Given the description of an element on the screen output the (x, y) to click on. 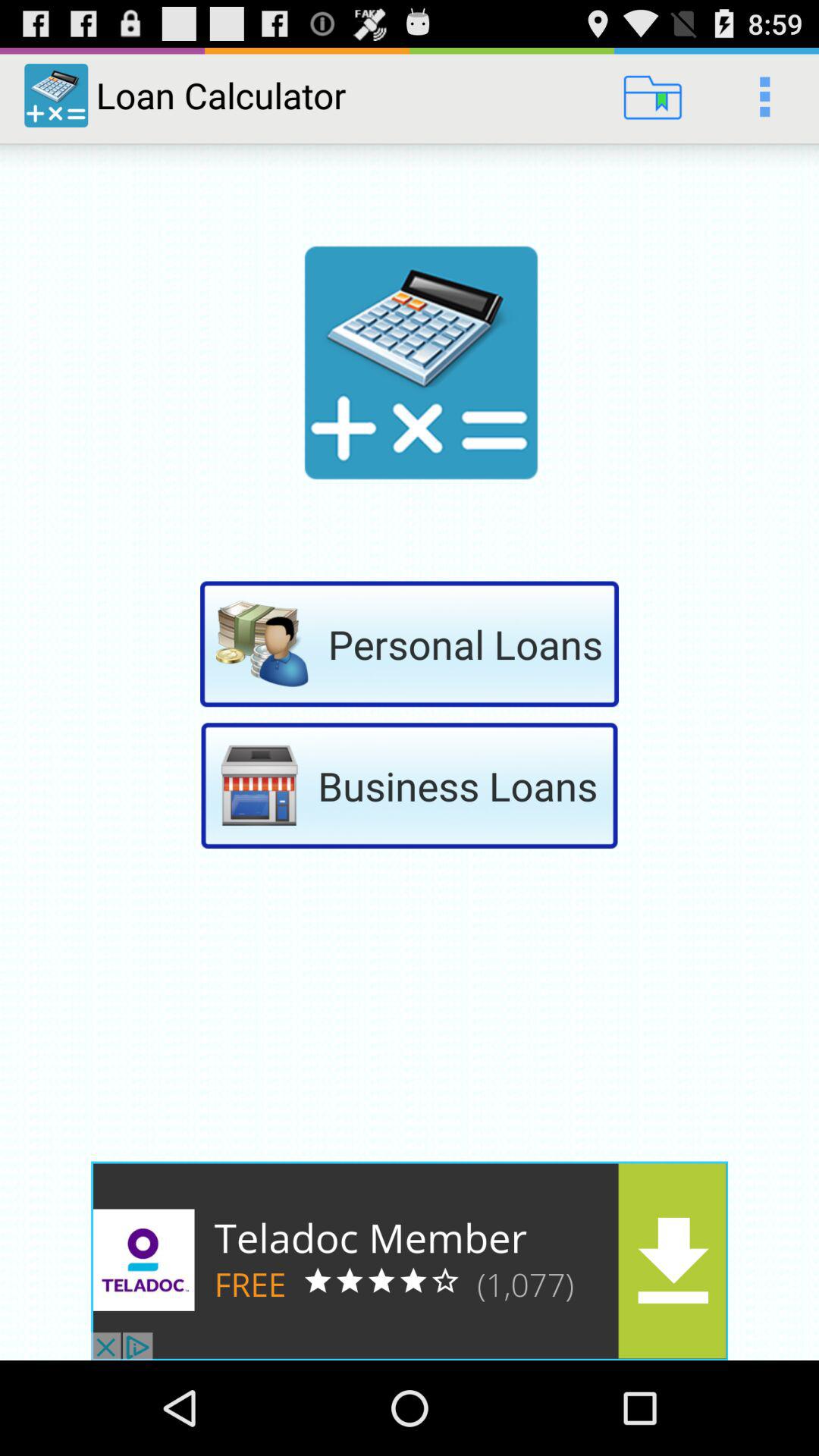
open teladoc advertisement (409, 1260)
